Given the description of an element on the screen output the (x, y) to click on. 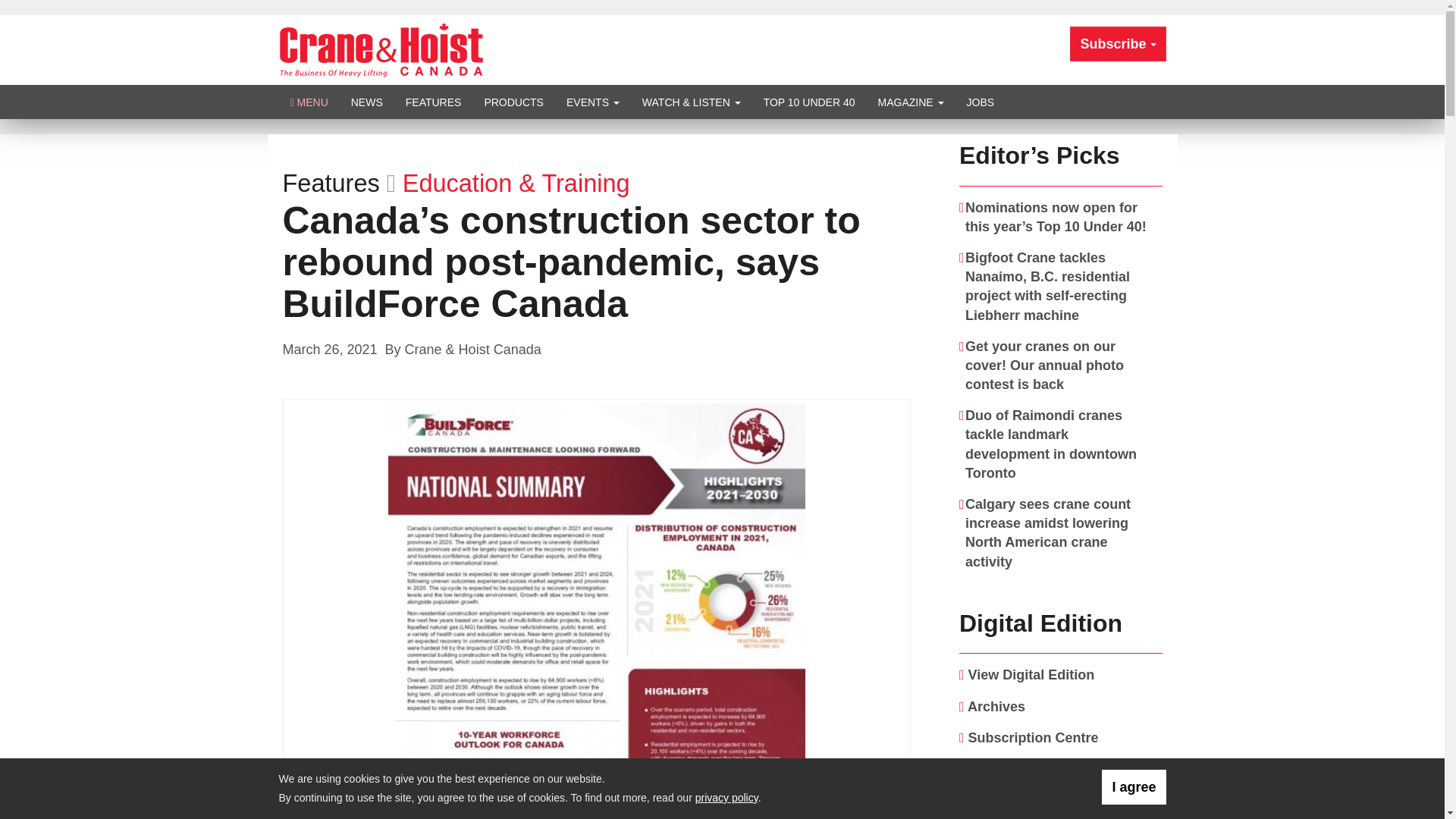
Crane and Hoist Canada (381, 48)
EVENTS (592, 101)
Subscribe (1118, 43)
PRODUCTS (512, 101)
FEATURES (433, 101)
TOP 10 UNDER 40 (809, 101)
JOBS (980, 101)
NEWS (366, 101)
Click to show site navigation (309, 101)
MAGAZINE (910, 101)
MENU (309, 101)
